Given the description of an element on the screen output the (x, y) to click on. 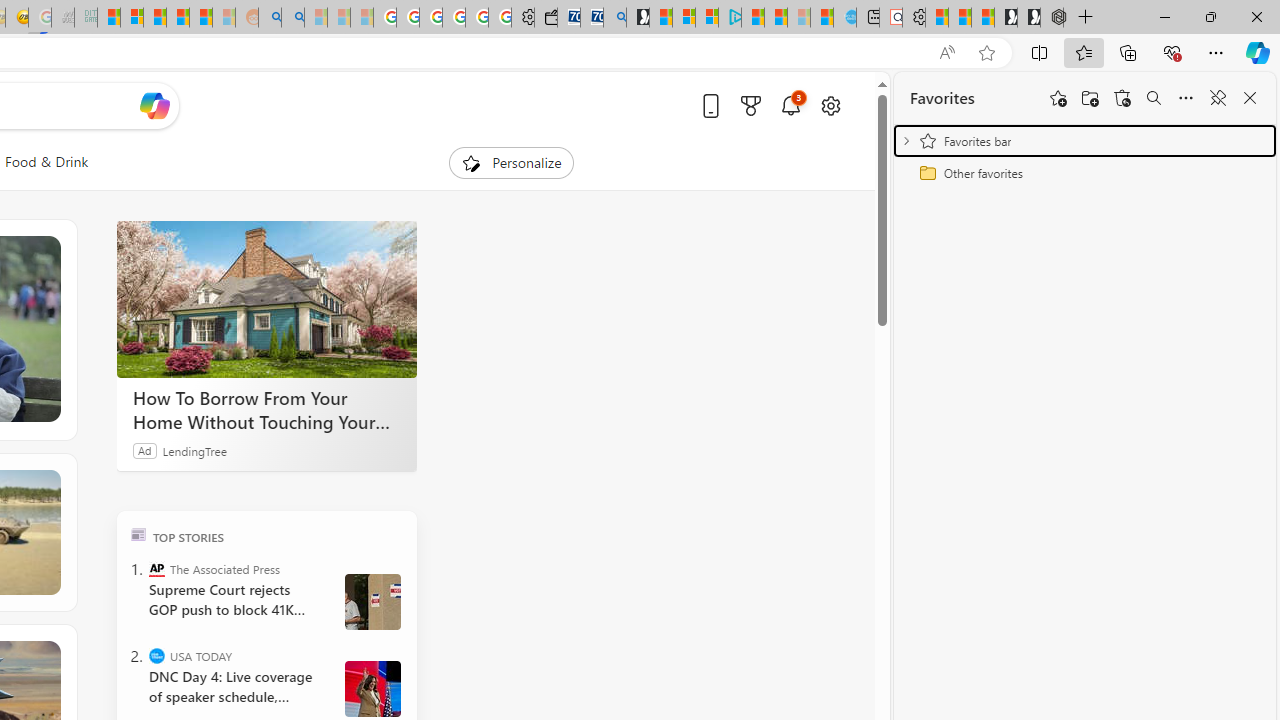
Microsoft Start Gaming (637, 17)
Utah sues federal government - Search (292, 17)
Microsoft Start - Sleeping (799, 17)
Restore deleted favorites (1122, 98)
